Given the description of an element on the screen output the (x, y) to click on. 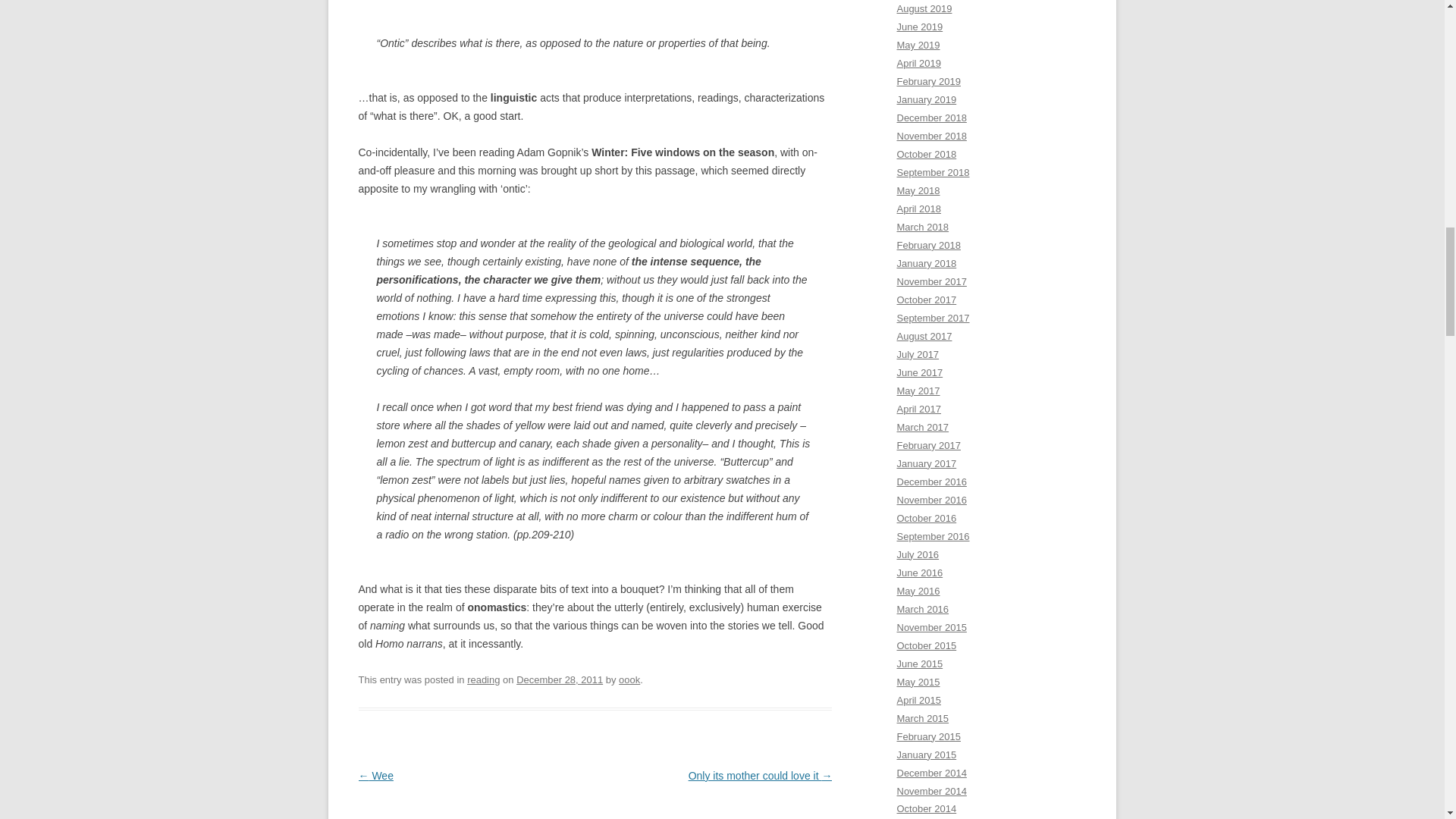
7:44 pm (559, 679)
December 28, 2011 (559, 679)
View all posts by oook (629, 679)
reading (483, 679)
oook (629, 679)
